Given the description of an element on the screen output the (x, y) to click on. 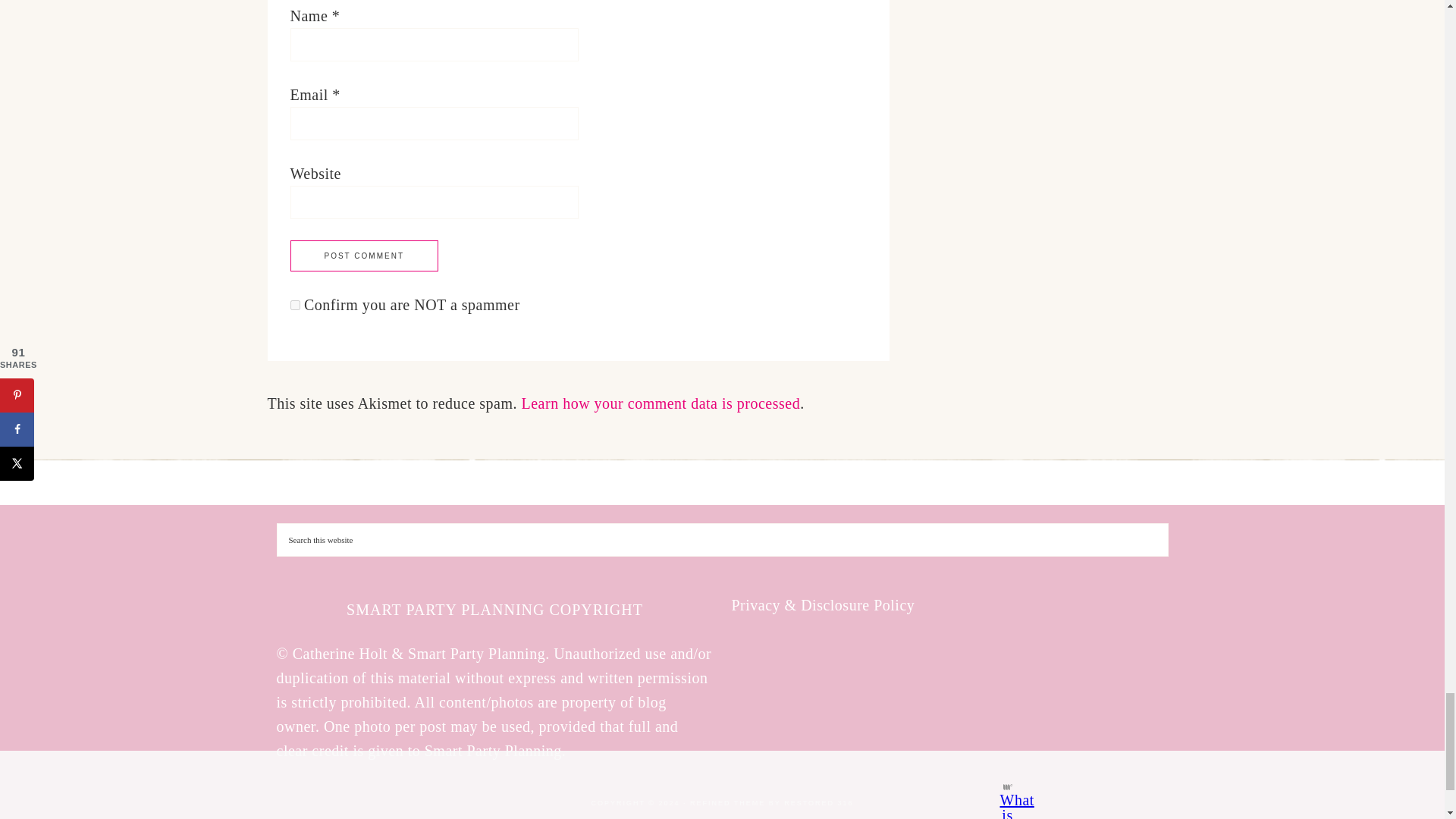
on (294, 305)
Post Comment (363, 255)
